Given the description of an element on the screen output the (x, y) to click on. 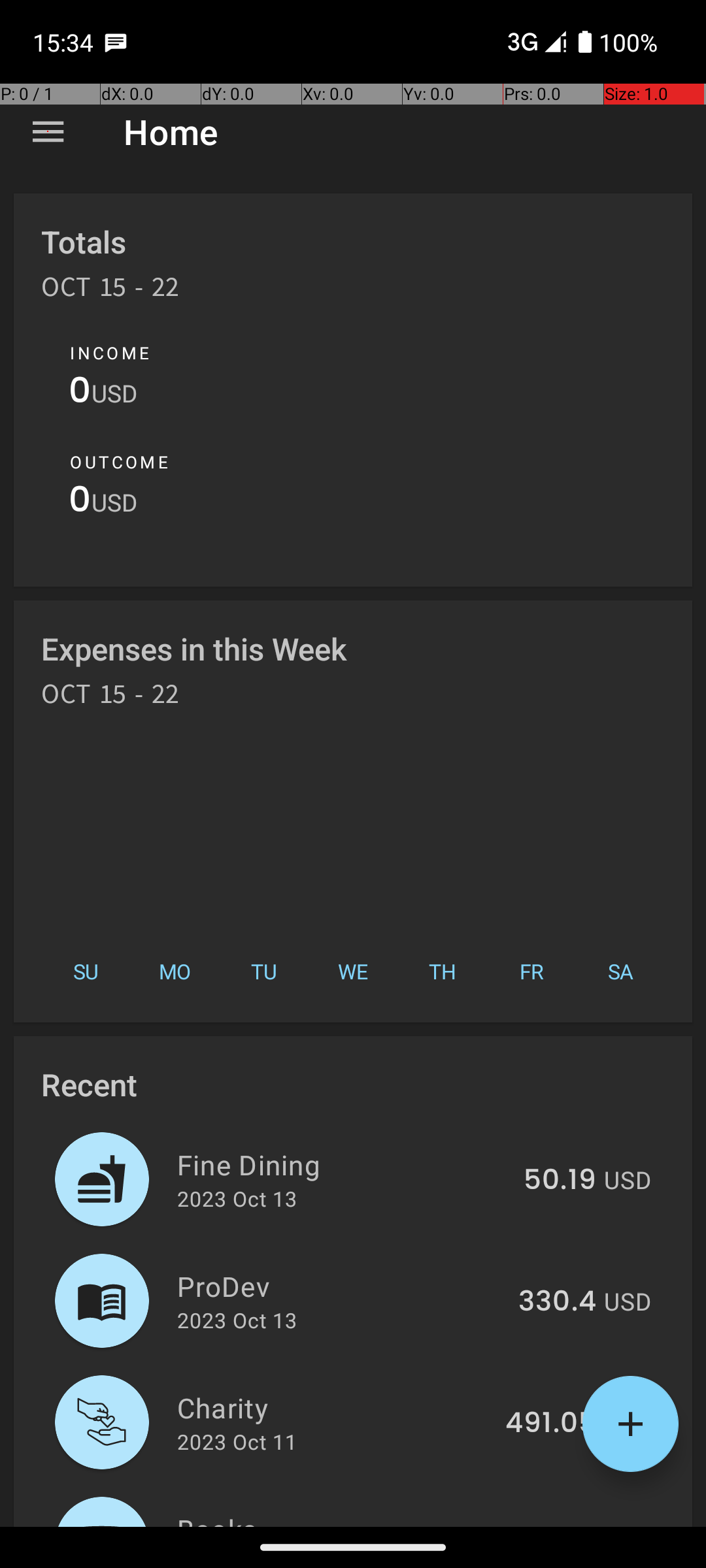
Totals Element type: android.widget.TextView (83, 240)
OCT 15 - 22 Element type: android.widget.TextView (110, 291)
INCOME Element type: android.widget.TextView (109, 352)
OUTCOME Element type: android.widget.TextView (118, 461)
Expenses in this Week Element type: android.widget.TextView (194, 648)
Fine Dining Element type: android.widget.TextView (342, 1164)
2023 Oct 13 Element type: android.widget.TextView (236, 1198)
50.19 Element type: android.widget.TextView (559, 1180)
ProDev Element type: android.widget.TextView (340, 1285)
330.4 Element type: android.widget.TextView (556, 1301)
Charity Element type: android.widget.TextView (333, 1407)
2023 Oct 11 Element type: android.widget.TextView (236, 1441)
491.05 Element type: android.widget.TextView (550, 1423)
Books Element type: android.widget.TextView (341, 1518)
24.73 Element type: android.widget.TextView (558, 1524)
SMS Messenger notification: Matteo Ibrahim Element type: android.widget.ImageView (115, 41)
